Given the description of an element on the screen output the (x, y) to click on. 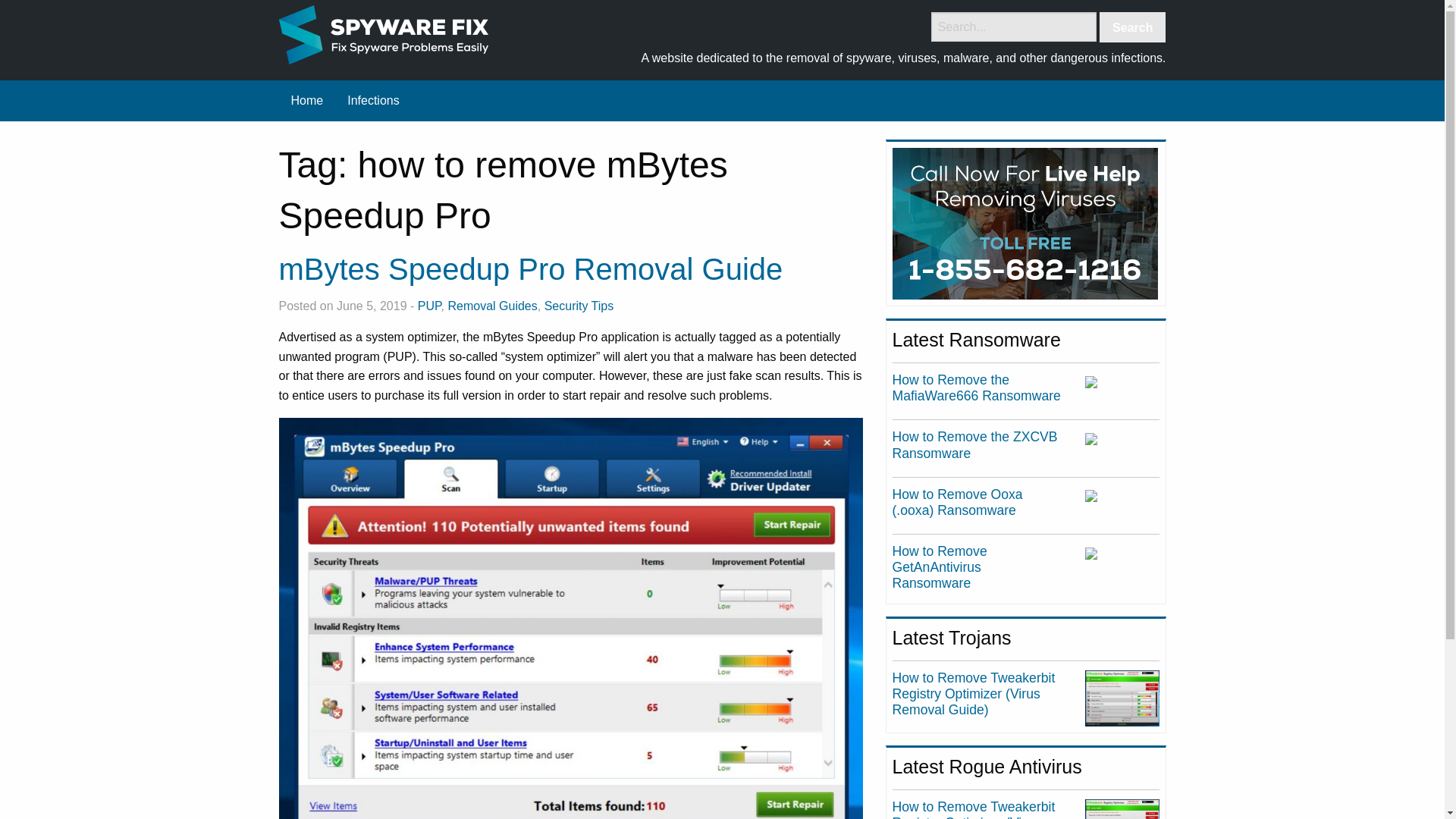
Search (1132, 27)
mBytes Speedup Pro Removal Guide (531, 268)
How to Remove GetAnAntivirus Ransomware (939, 566)
How to Remove the ZXCVB Ransomware (975, 444)
Search (1132, 27)
Search for: (1013, 26)
Search (1132, 27)
Security Tips (579, 305)
mBytes Speedup Pro Removal Guide (531, 268)
PUP (429, 305)
